Given the description of an element on the screen output the (x, y) to click on. 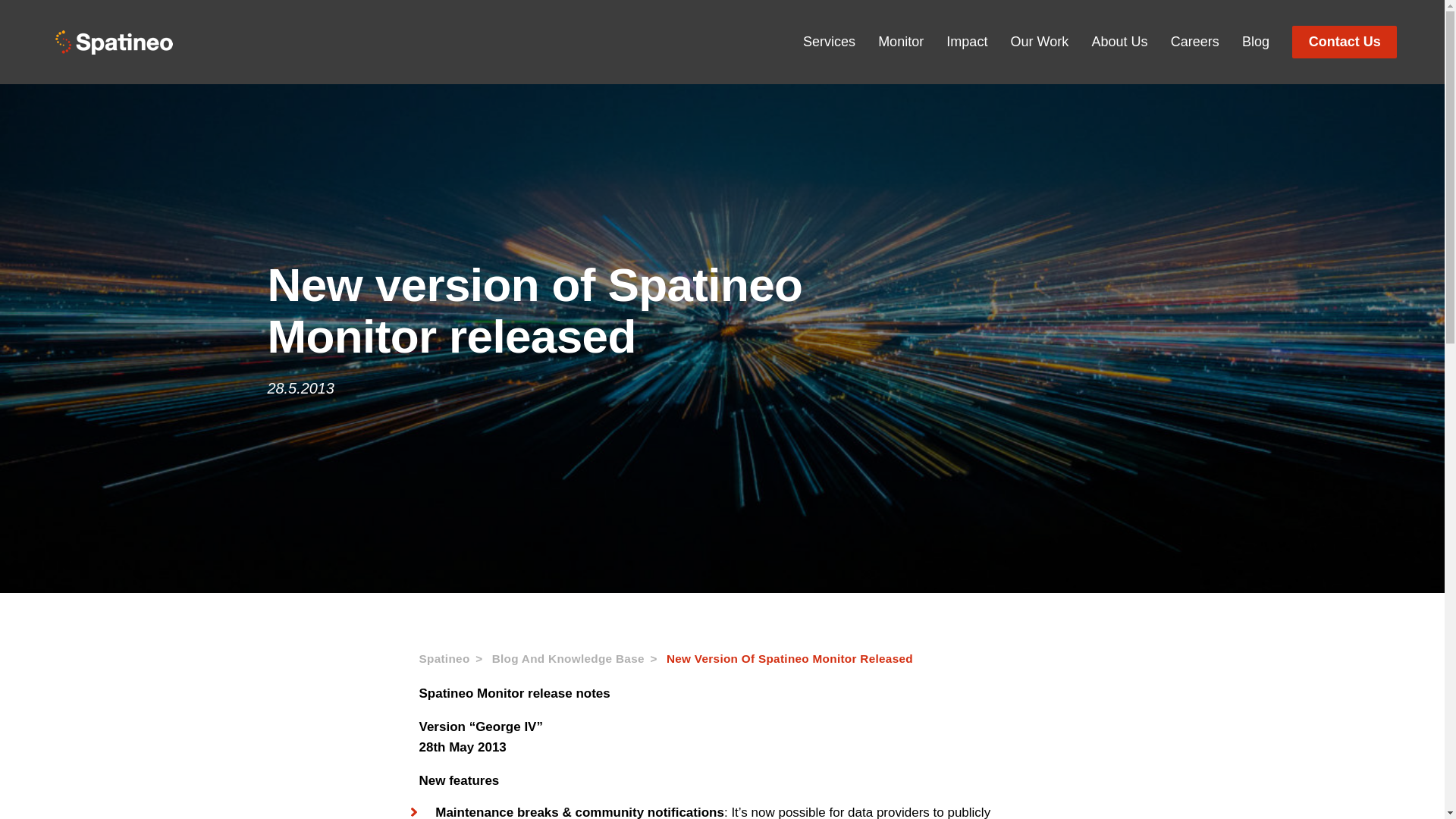
About Us (1118, 41)
Contact Us (1344, 41)
Monitor (900, 41)
Careers (1195, 41)
etusivulle (113, 42)
Blog (1255, 41)
Our Work (1039, 41)
Impact (966, 41)
New Version Of Spatineo Monitor Released (789, 659)
Blog And Knowledge Base (579, 659)
